Given the description of an element on the screen output the (x, y) to click on. 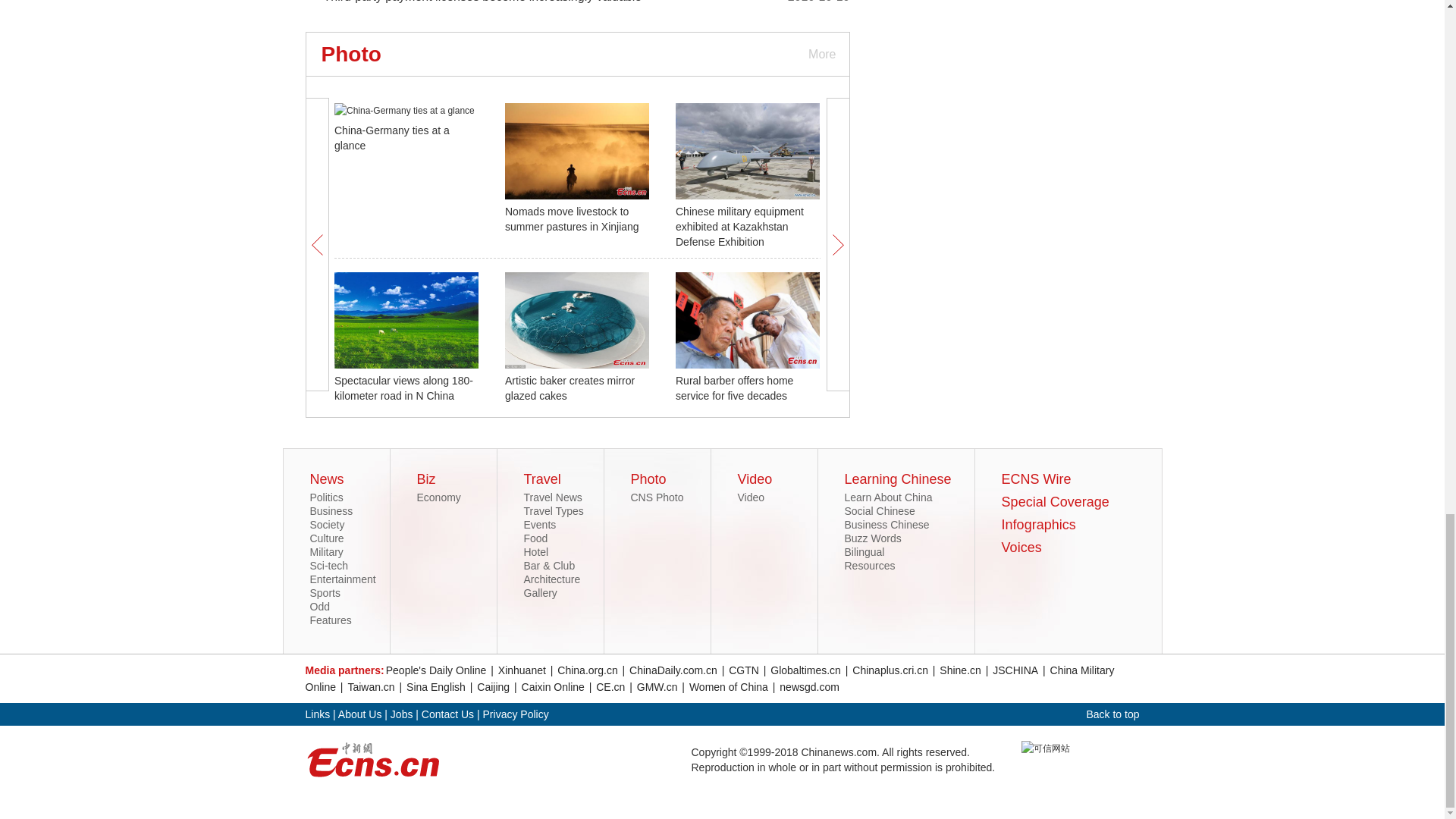
Spectacular views along 180-kilometer road in N China (403, 388)
China-Germany ties at a glance (391, 137)
Nomads move livestock to summer pastures in Xinjiang (572, 218)
Artistic baker creates mirror glazed cakes (569, 388)
